Given the description of an element on the screen output the (x, y) to click on. 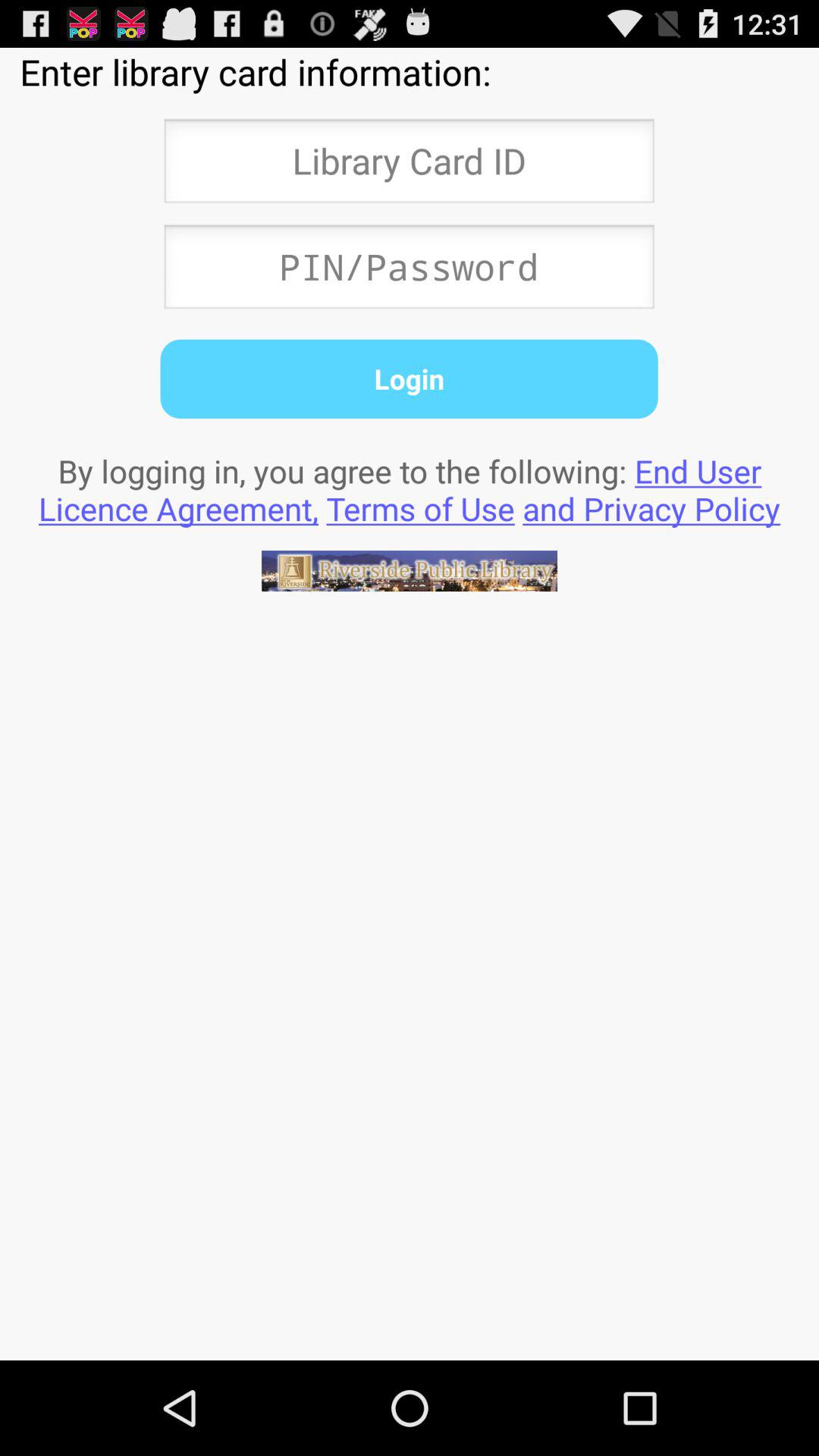
turn on login (409, 378)
